Given the description of an element on the screen output the (x, y) to click on. 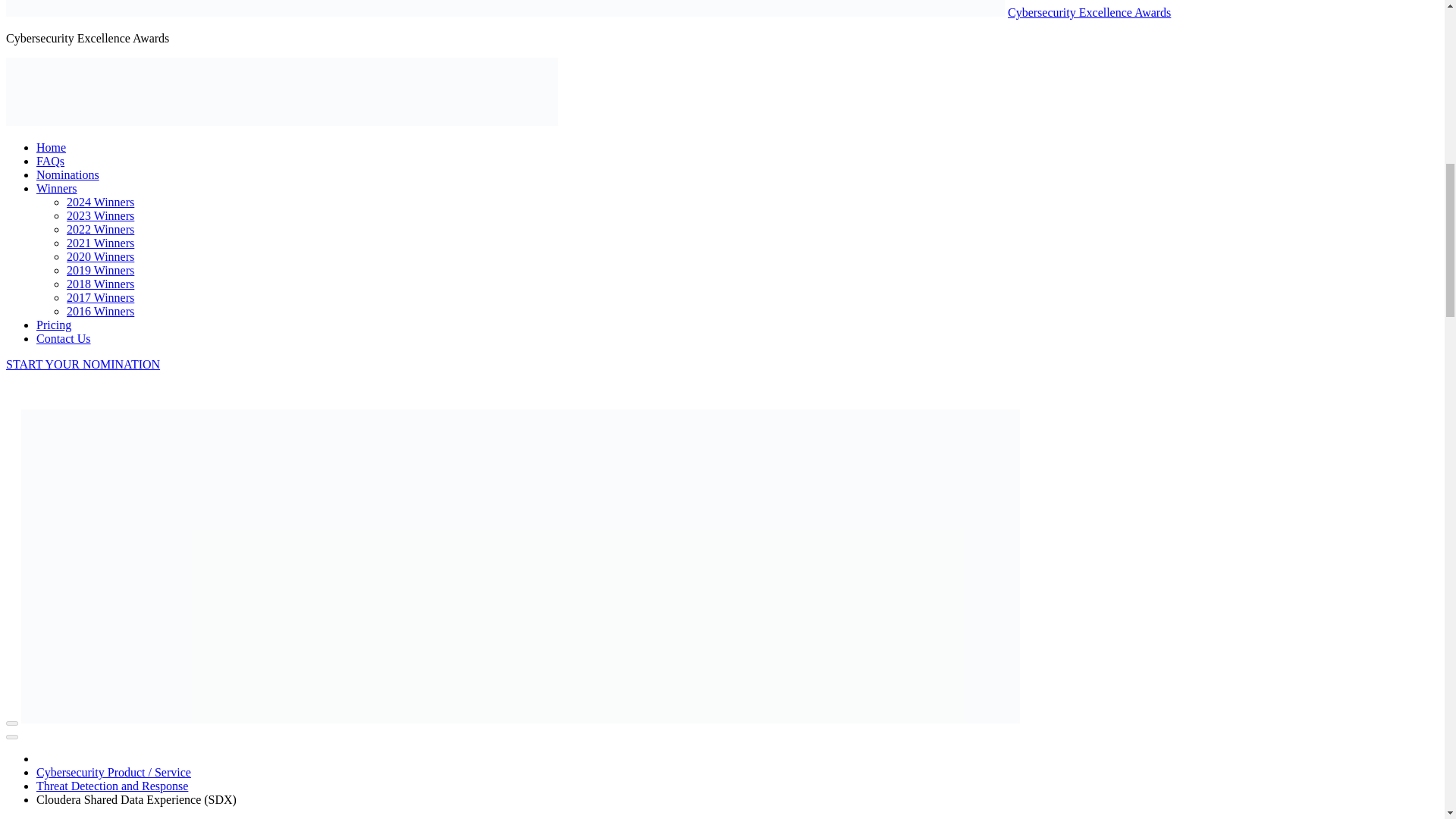
2021 Winners (99, 242)
2020 Winners (99, 256)
Nominations (67, 174)
2017 Winners (99, 297)
2022 Winners (99, 228)
2016 Winners (99, 310)
FAQs (50, 160)
Cybersecurity Excellence Awards (1088, 11)
Home (50, 146)
Contact Us (63, 338)
